Given the description of an element on the screen output the (x, y) to click on. 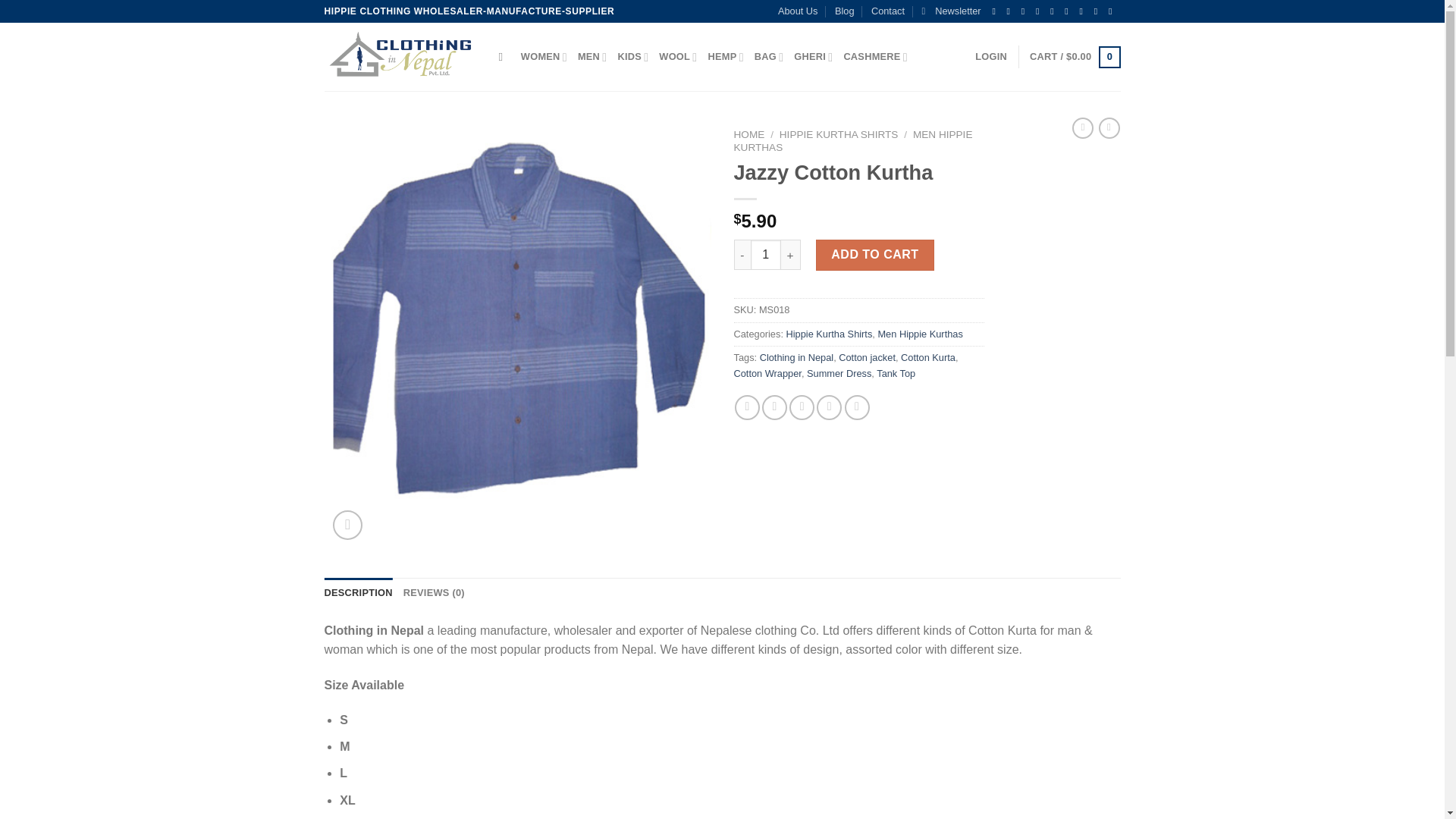
Cart (1074, 57)
1 (765, 254)
Newsletter (950, 11)
Sign up for Newsletter (950, 11)
About Us (797, 11)
Contact (887, 11)
WOMEN (544, 57)
